Given the description of an element on the screen output the (x, y) to click on. 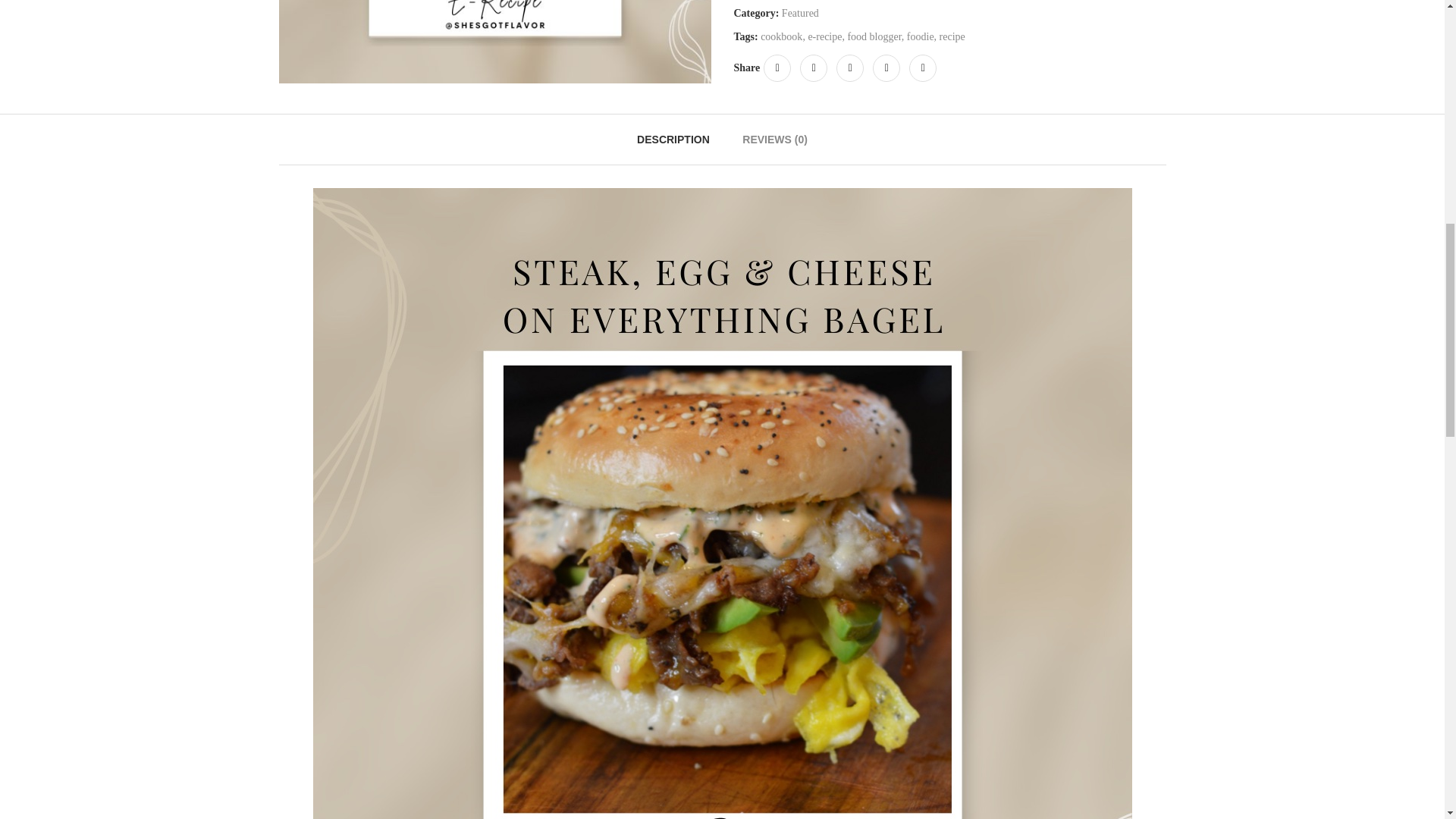
Steak Egg and Cheese Cover (495, 41)
